Given the description of an element on the screen output the (x, y) to click on. 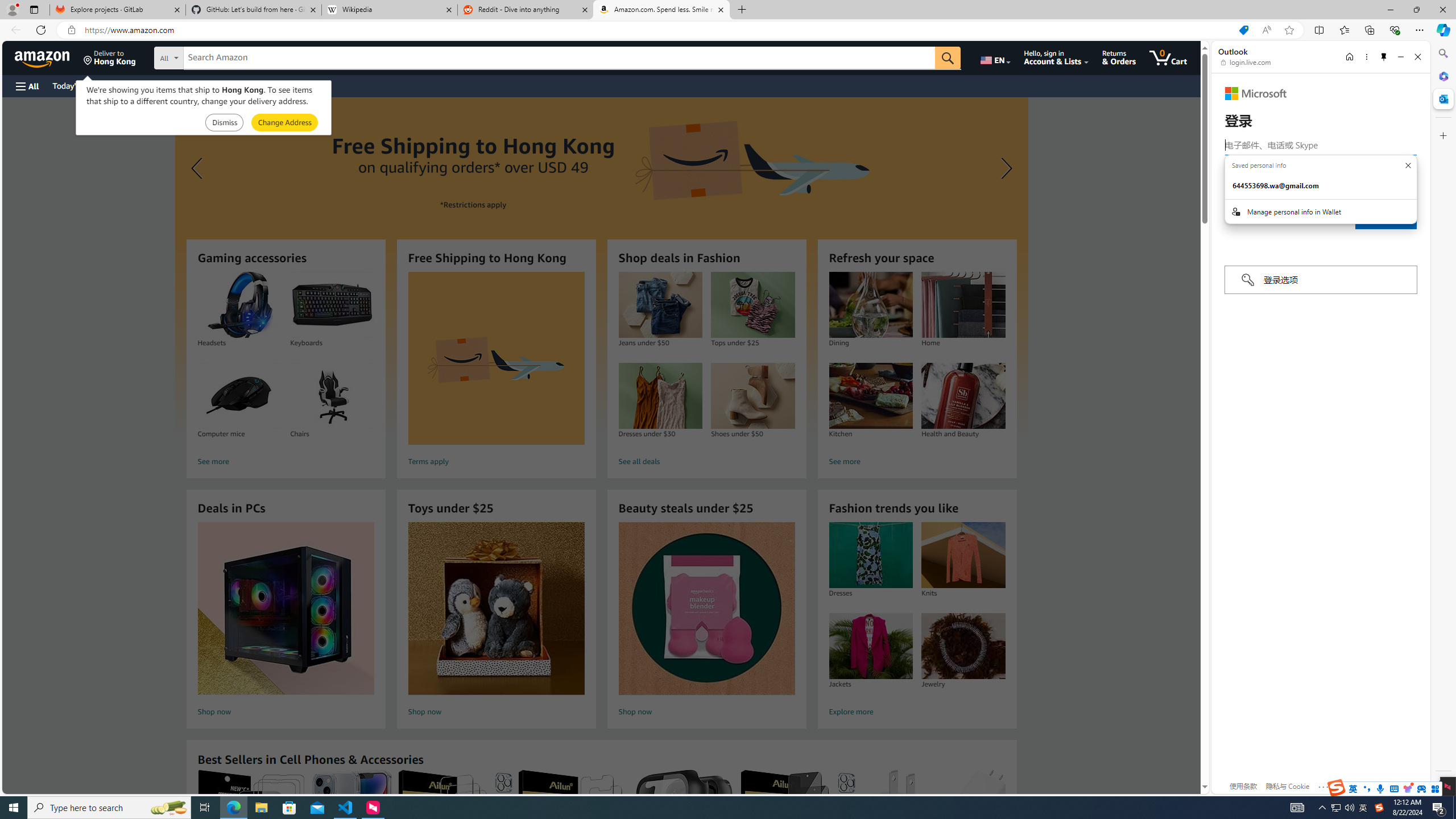
Deals in PCs Shop now (285, 620)
Jackets (870, 645)
Class: a-carousel-card (600, 267)
Gift Cards (251, 85)
Dresses (870, 555)
Shoes under $50 (753, 395)
Keyboards (331, 304)
Go (947, 57)
